Given the description of an element on the screen output the (x, y) to click on. 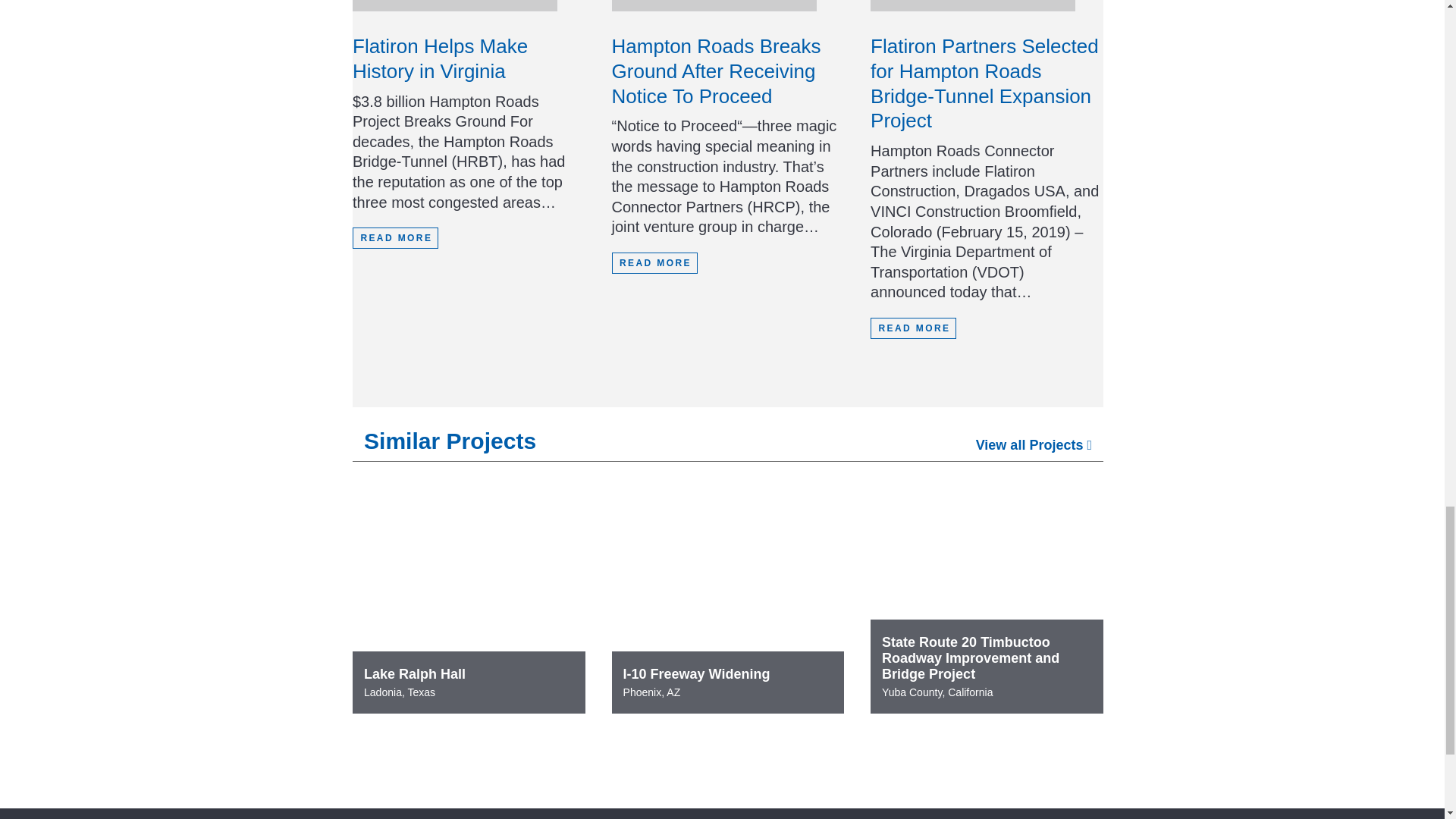
Flatiron Helps Make History in Virginia (439, 58)
